Given the description of an element on the screen output the (x, y) to click on. 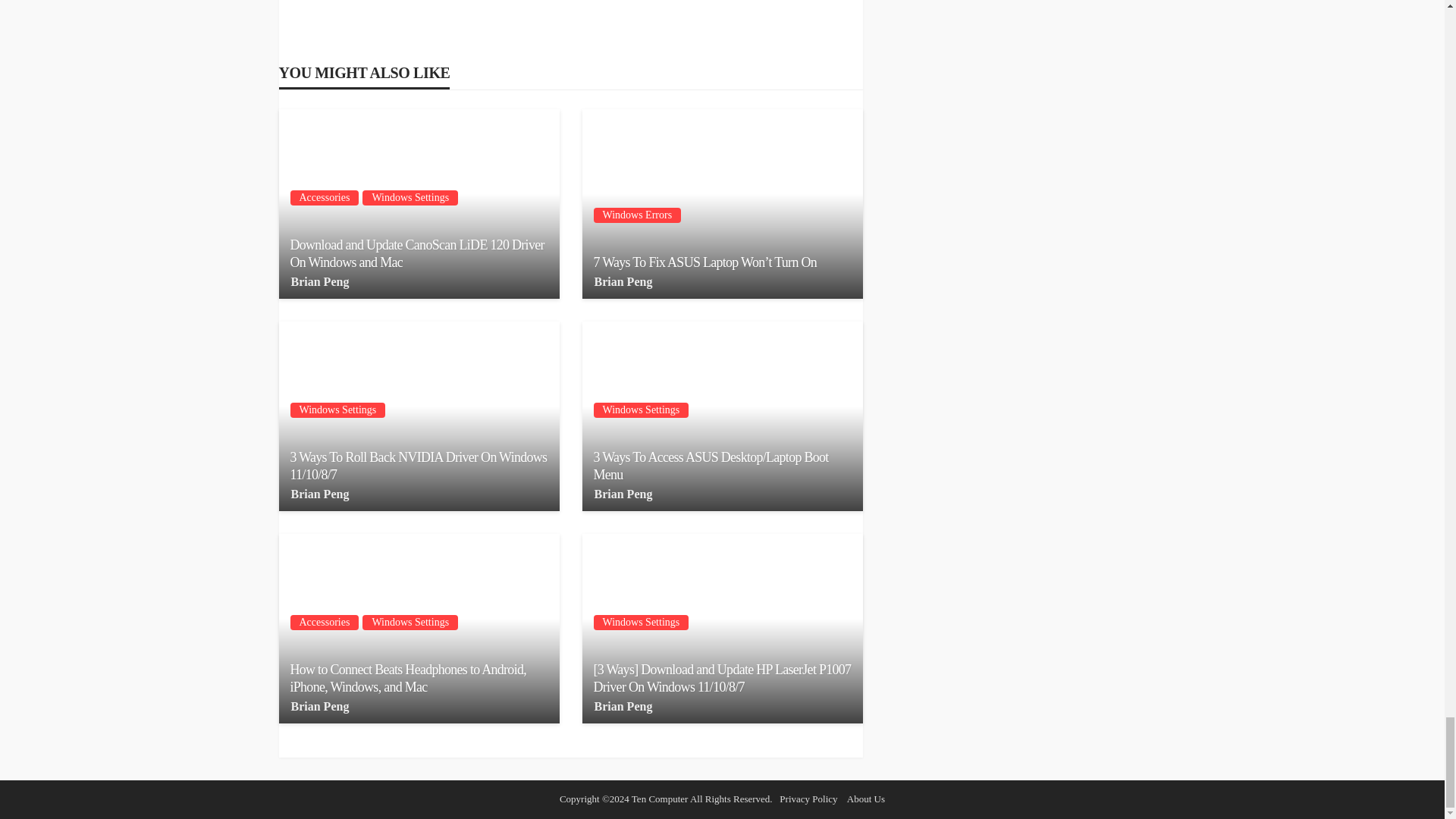
Accessories (323, 197)
